Given the description of an element on the screen output the (x, y) to click on. 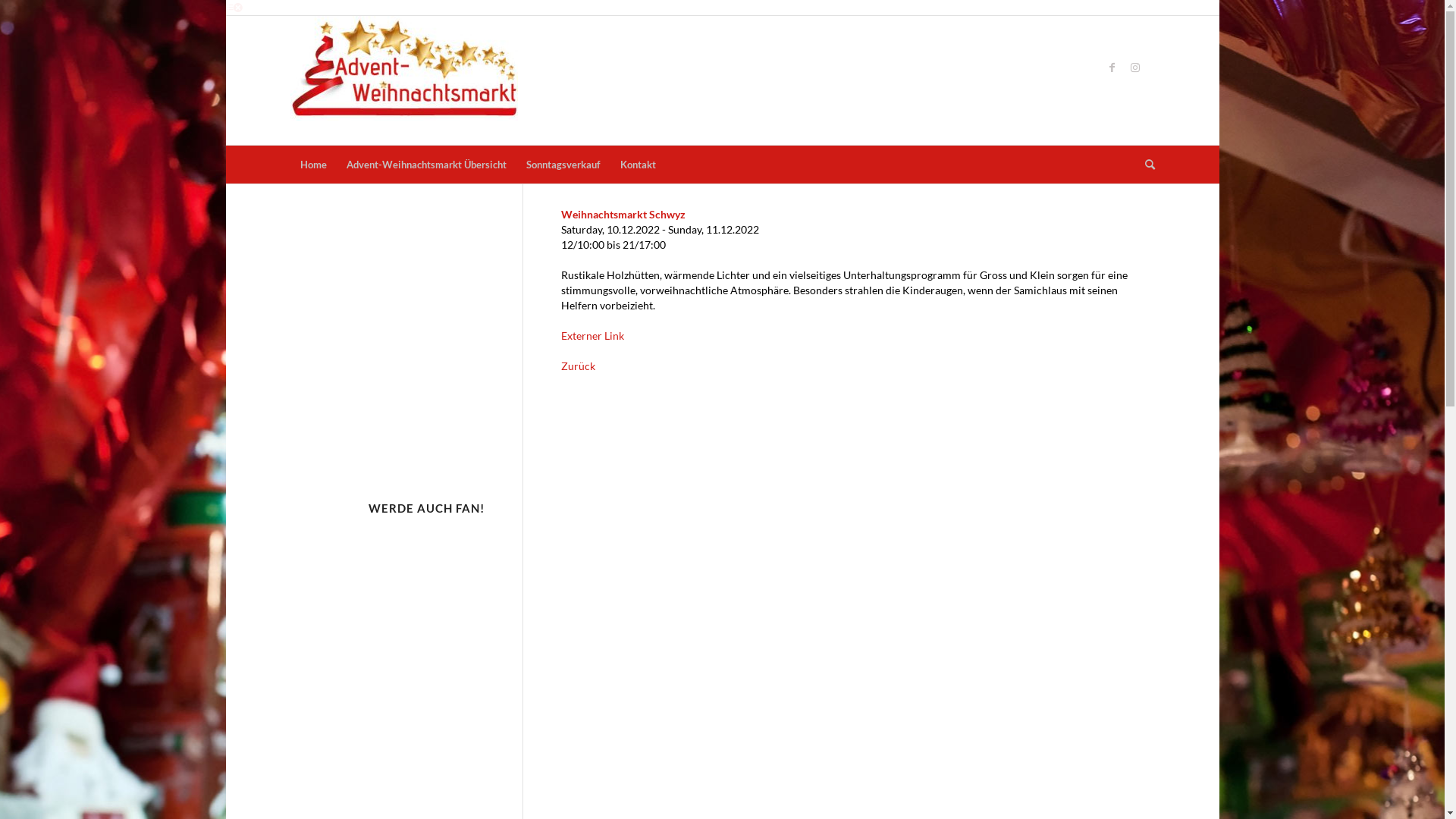
Advertisement Element type: hover (403, 662)
Externer Link Element type: text (592, 335)
Instagram Element type: hover (1134, 67)
Facebook Element type: hover (1112, 67)
Advertisement Element type: hover (837, 423)
Home Element type: text (312, 164)
Kontakt Element type: text (637, 164)
Advertisement Element type: hover (825, 78)
Advertisement Element type: hover (403, 342)
Sonntagsverkauf Element type: text (562, 164)
